Given the description of an element on the screen output the (x, y) to click on. 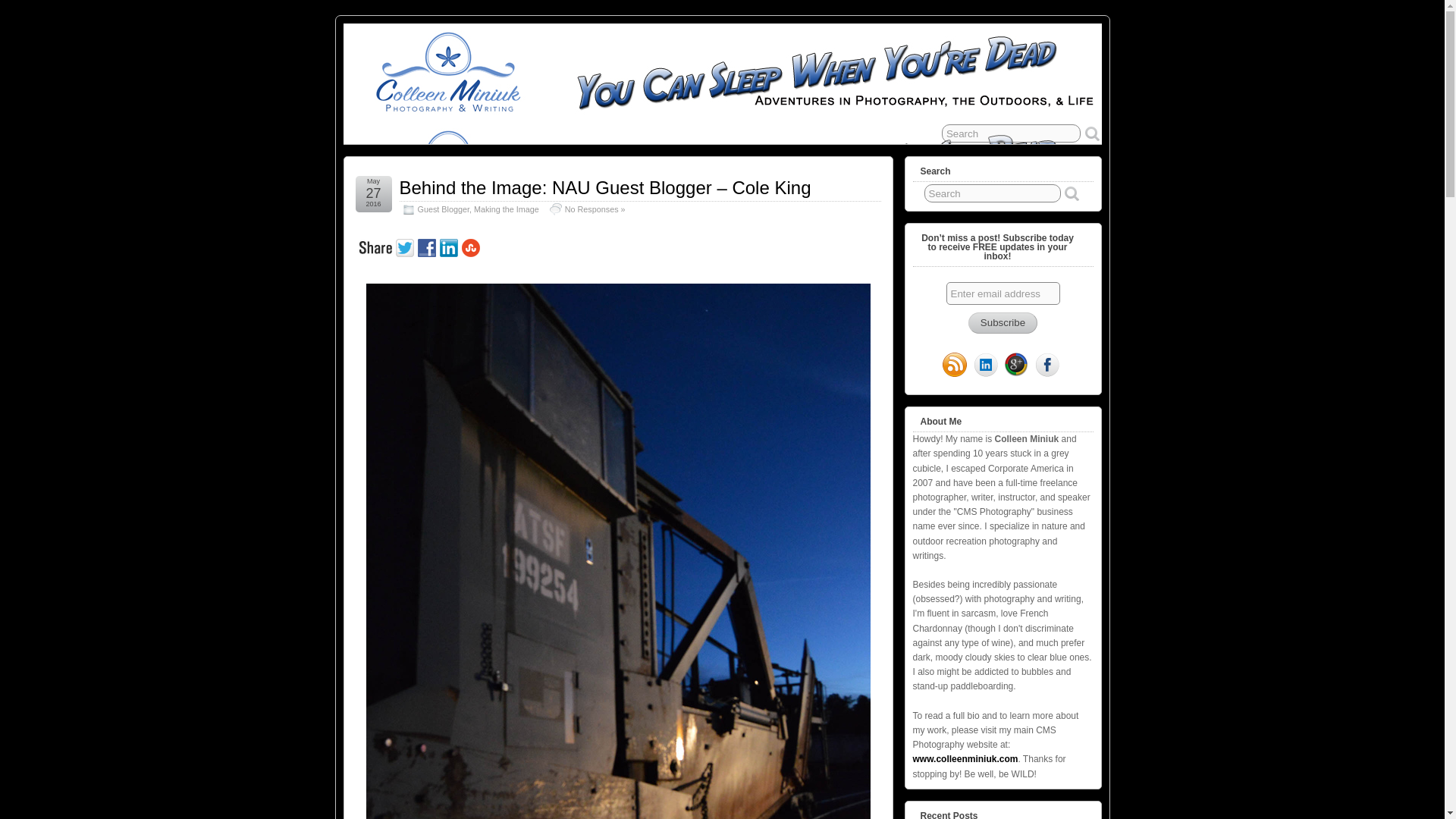
Linkedin (450, 246)
Search (992, 193)
Search (1011, 133)
Guest Blogger (442, 208)
LinkedIn (985, 366)
Search (1011, 133)
Enter email address (1002, 292)
Twitter (406, 246)
Search (992, 193)
Making the Image (506, 208)
StumbleUpon (472, 246)
Subscribe (1002, 322)
Facebook (427, 246)
Subscribe (1002, 322)
